Given the description of an element on the screen output the (x, y) to click on. 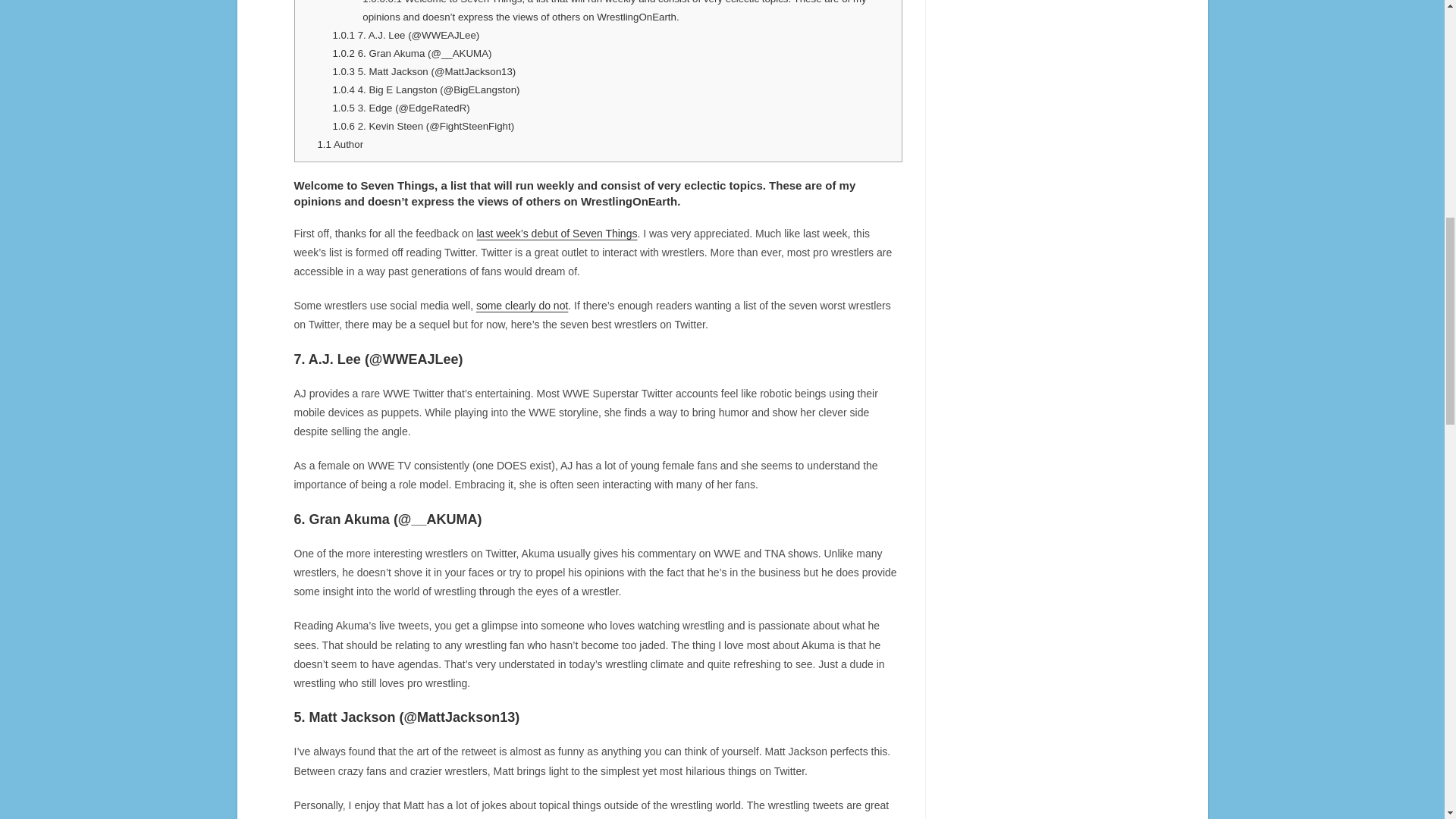
some clearly do not (521, 305)
Nick Jackson (643, 818)
1.1 Author (339, 143)
